Given the description of an element on the screen output the (x, y) to click on. 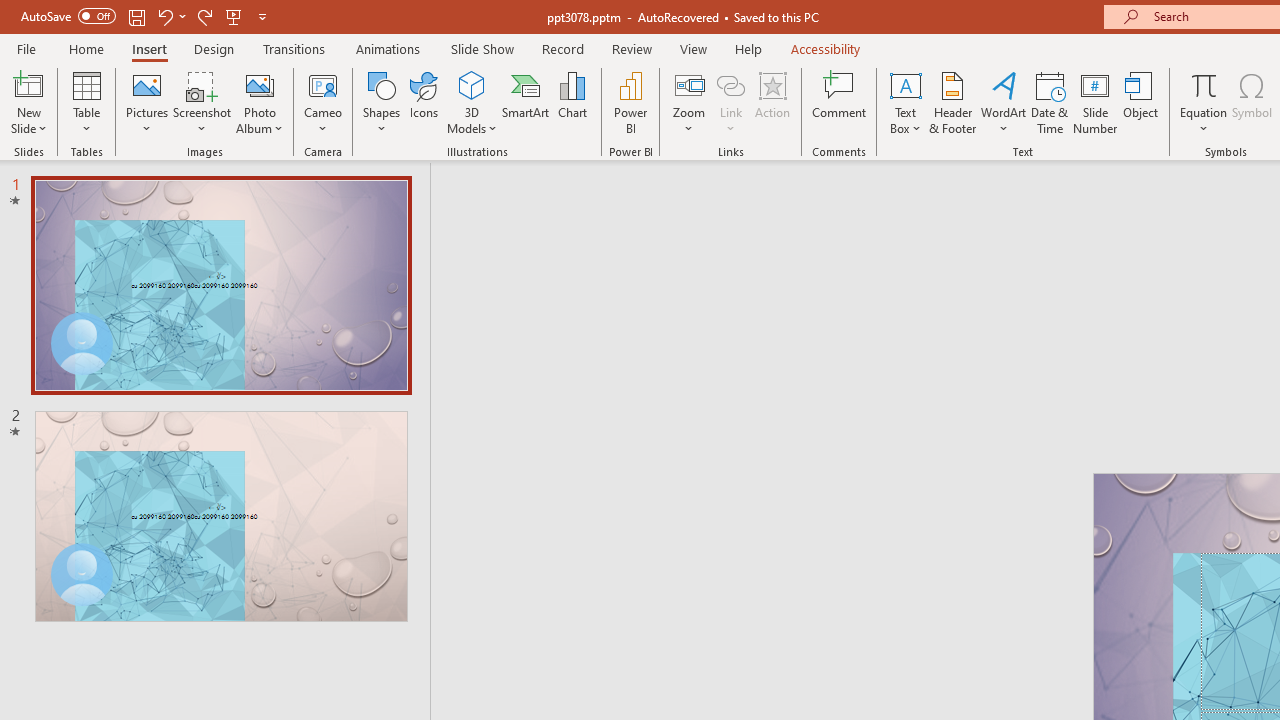
Table (86, 102)
Equation (1203, 84)
Date & Time... (1050, 102)
Power BI (630, 102)
